Given the description of an element on the screen output the (x, y) to click on. 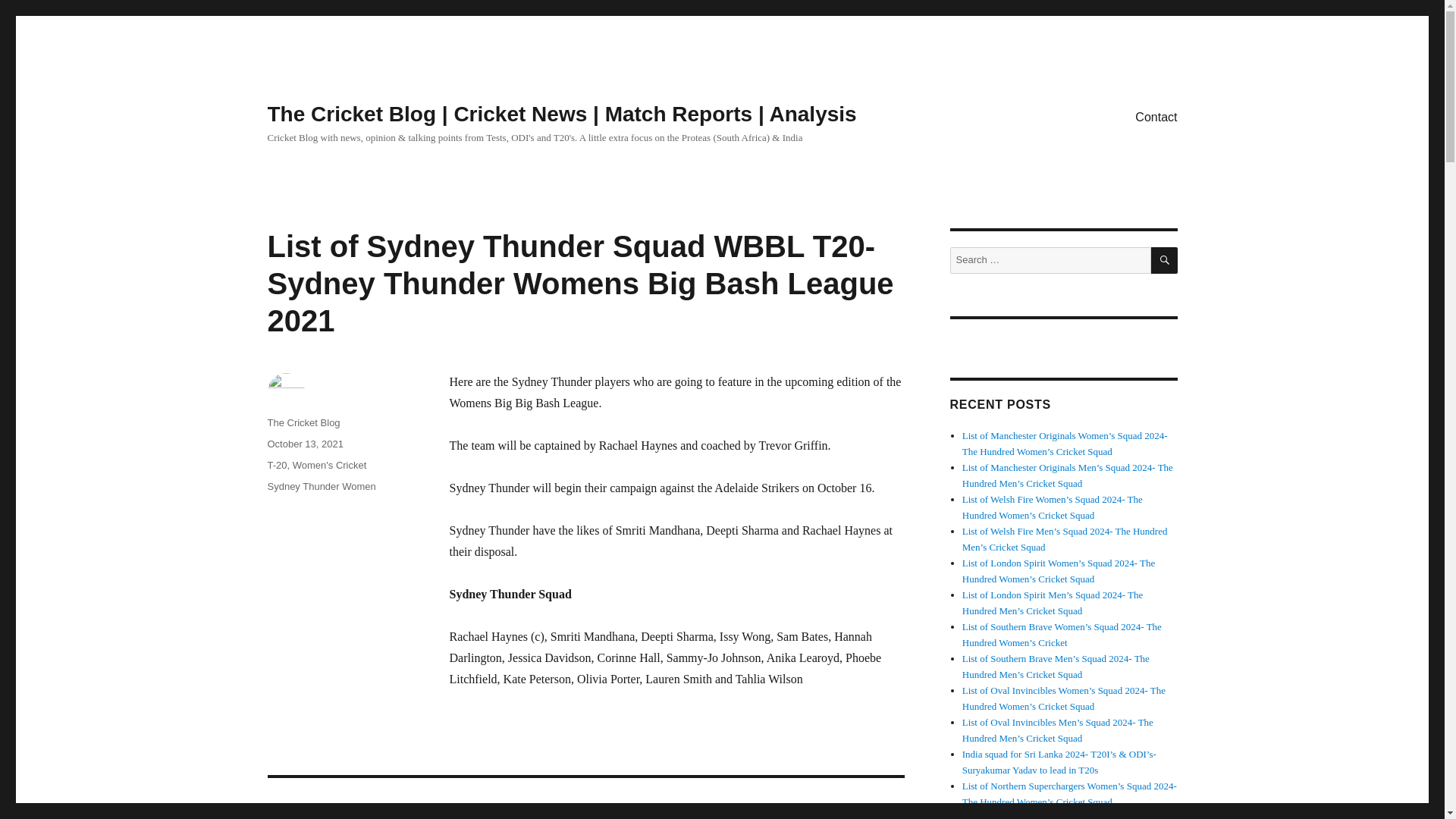
SEARCH (1164, 260)
The Cricket Blog (302, 422)
T-20 (276, 464)
Women's Cricket (329, 464)
Sydney Thunder Women (320, 486)
Contact (1156, 116)
October 13, 2021 (304, 443)
